Given the description of an element on the screen output the (x, y) to click on. 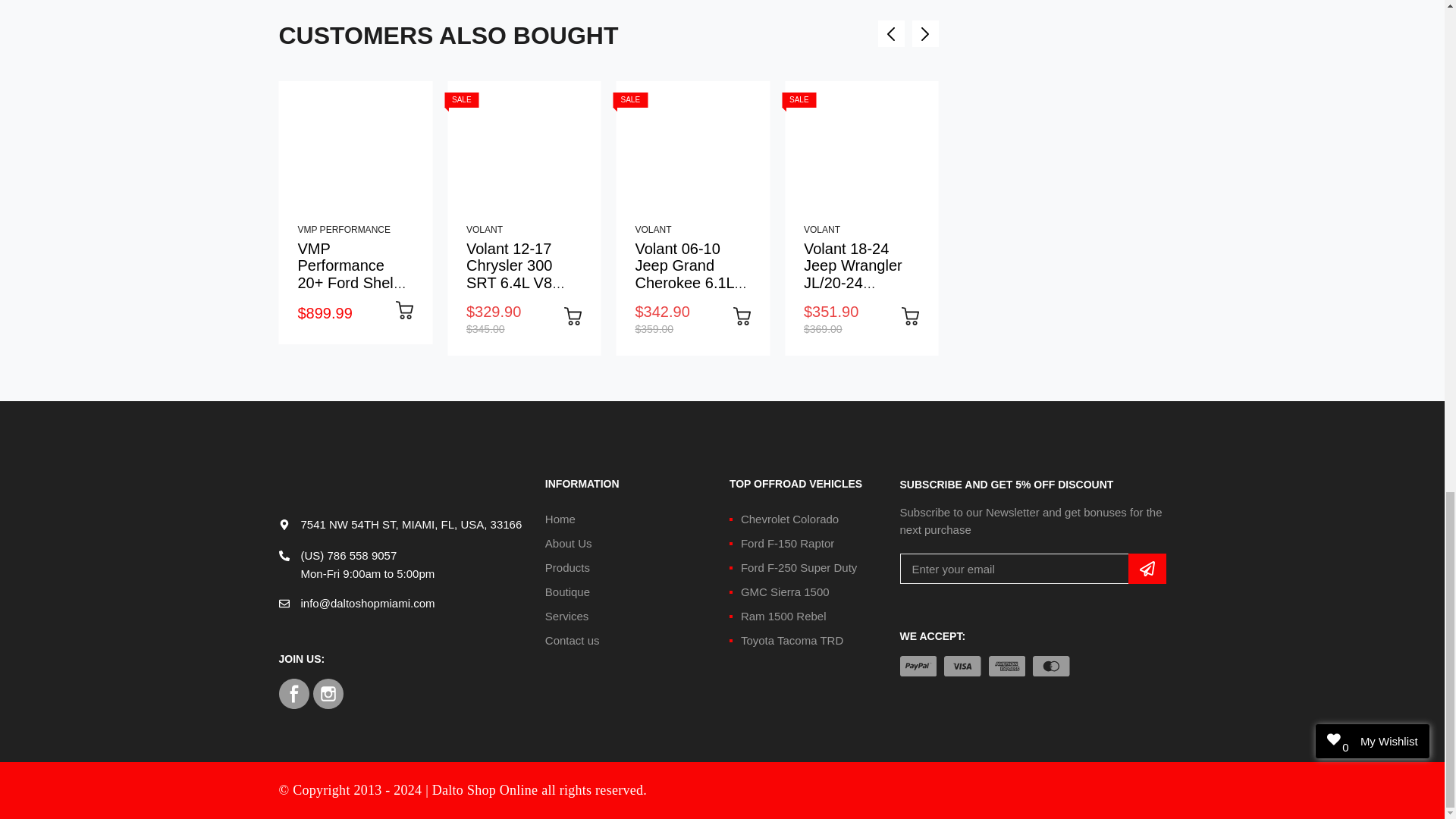
Facebook (293, 693)
Twitter (327, 693)
